Given the description of an element on the screen output the (x, y) to click on. 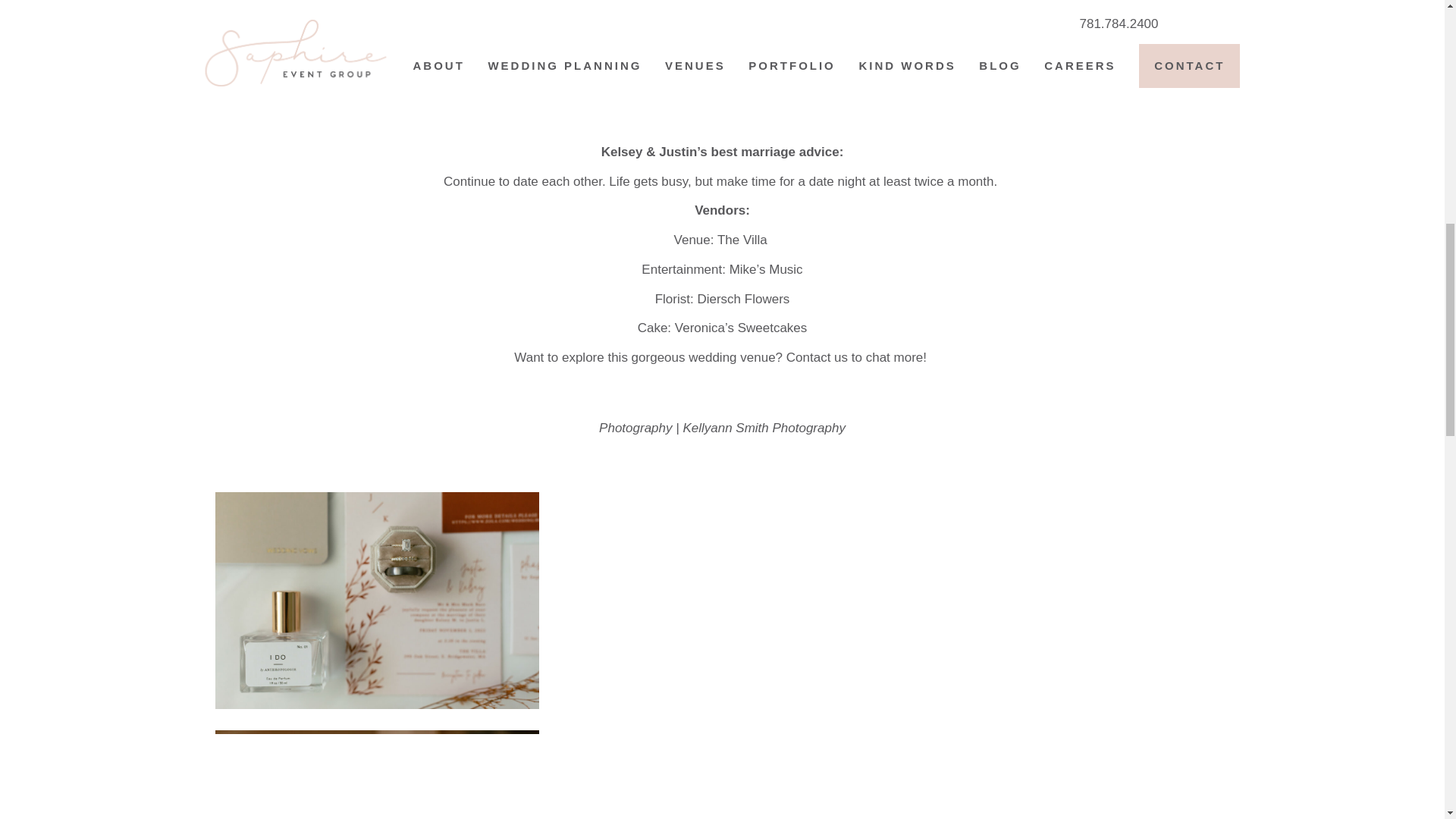
Kellyann Smith Photography (763, 427)
Contact us (816, 357)
The Villa  (744, 239)
Diersch Flowers (743, 298)
